Given the description of an element on the screen output the (x, y) to click on. 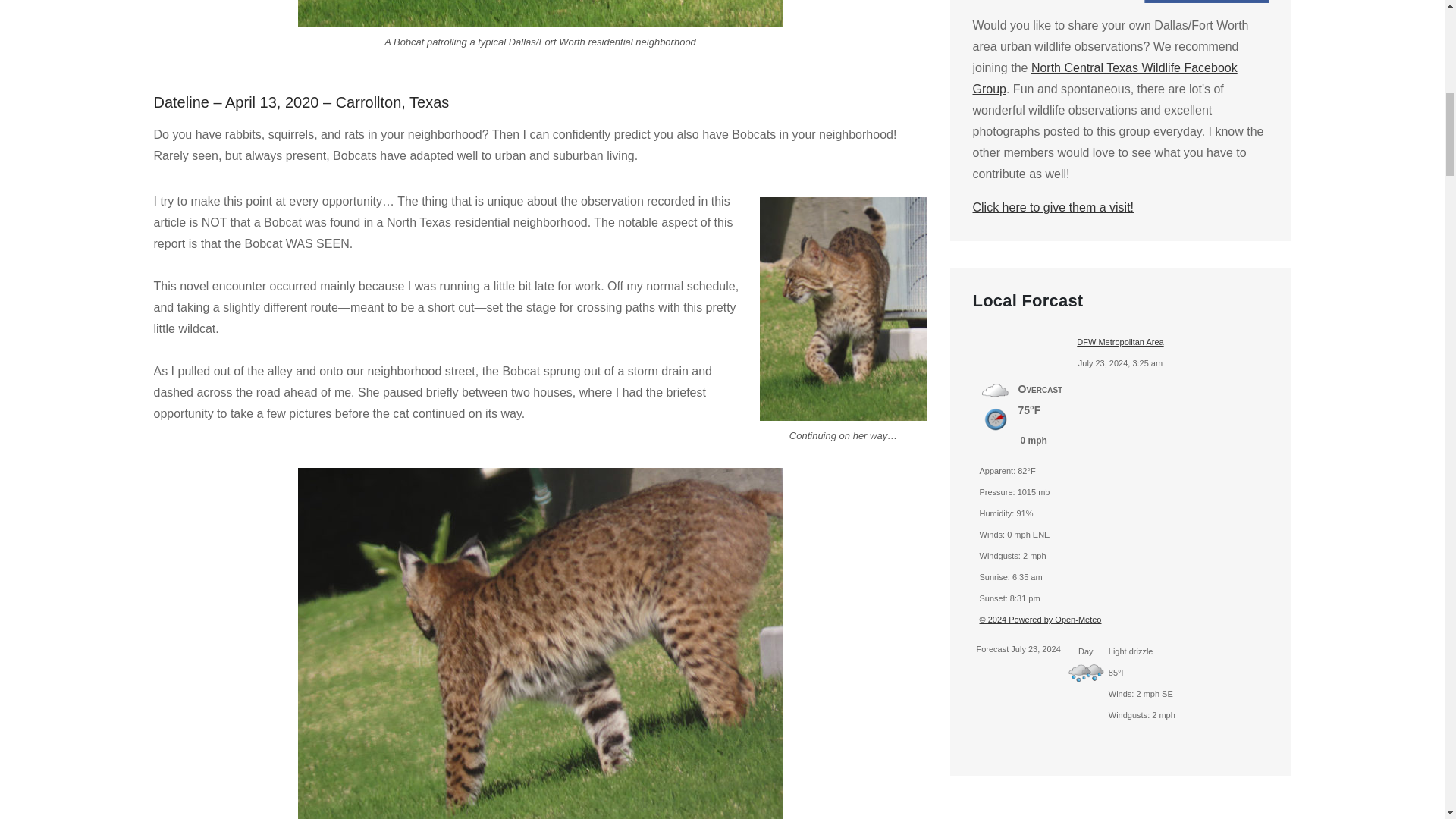
Click here to give them a visit! (1053, 206)
DFW Metropolitan Area (1120, 341)
North Central Texas Wildlife Facebook Group (1104, 78)
